Given the description of an element on the screen output the (x, y) to click on. 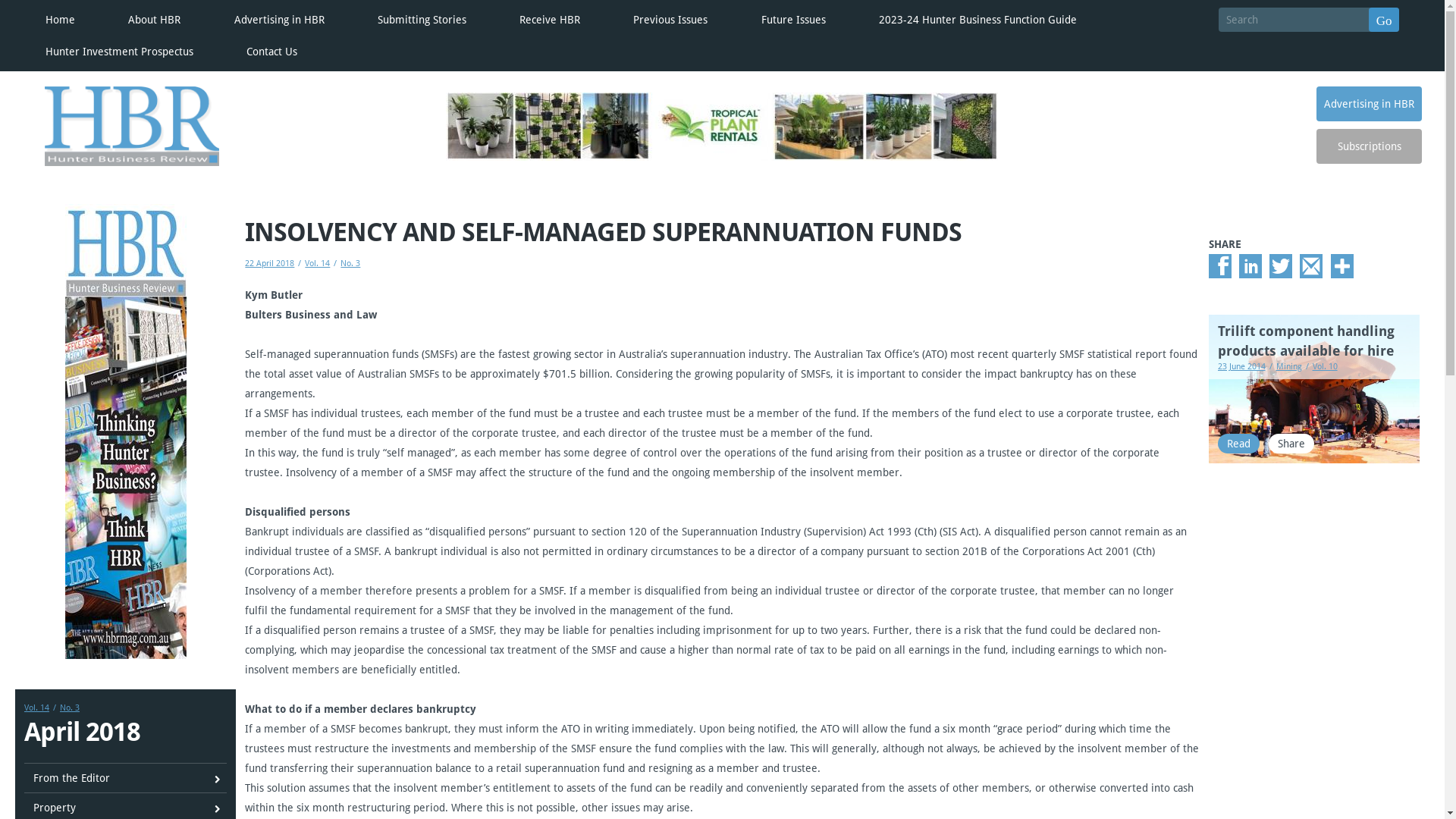
Vol. 10 Element type: text (1322, 366)
Advertising in HBR Element type: text (1368, 103)
No. 3 Element type: text (67, 707)
23 June 2014 Element type: text (1241, 366)
Mining Element type: text (1287, 366)
Subscriptions Element type: text (1368, 145)
No. 3 Element type: text (348, 263)
Share Element type: text (1291, 443)
Vol. 14 Element type: text (36, 707)
22 April 2018 Element type: text (269, 263)
Advertising in HBR Element type: text (279, 19)
Trilift component handling products available for hire Element type: text (1305, 340)
Submitting Stories Element type: text (421, 19)
Previous Issues Element type: text (670, 19)
Home Element type: text (59, 19)
Read Element type: text (1238, 443)
From the Editor Element type: text (125, 778)
Future Issues Element type: text (793, 19)
2023-24 Hunter Business Function Guide Element type: text (977, 19)
Receive HBR Element type: text (549, 19)
Go Element type: text (1383, 19)
Hunter Investment Prospectus Element type: text (118, 51)
About HBR Element type: text (154, 19)
Vol. 14 Element type: text (315, 263)
Contact Us Element type: text (271, 51)
